Given the description of an element on the screen output the (x, y) to click on. 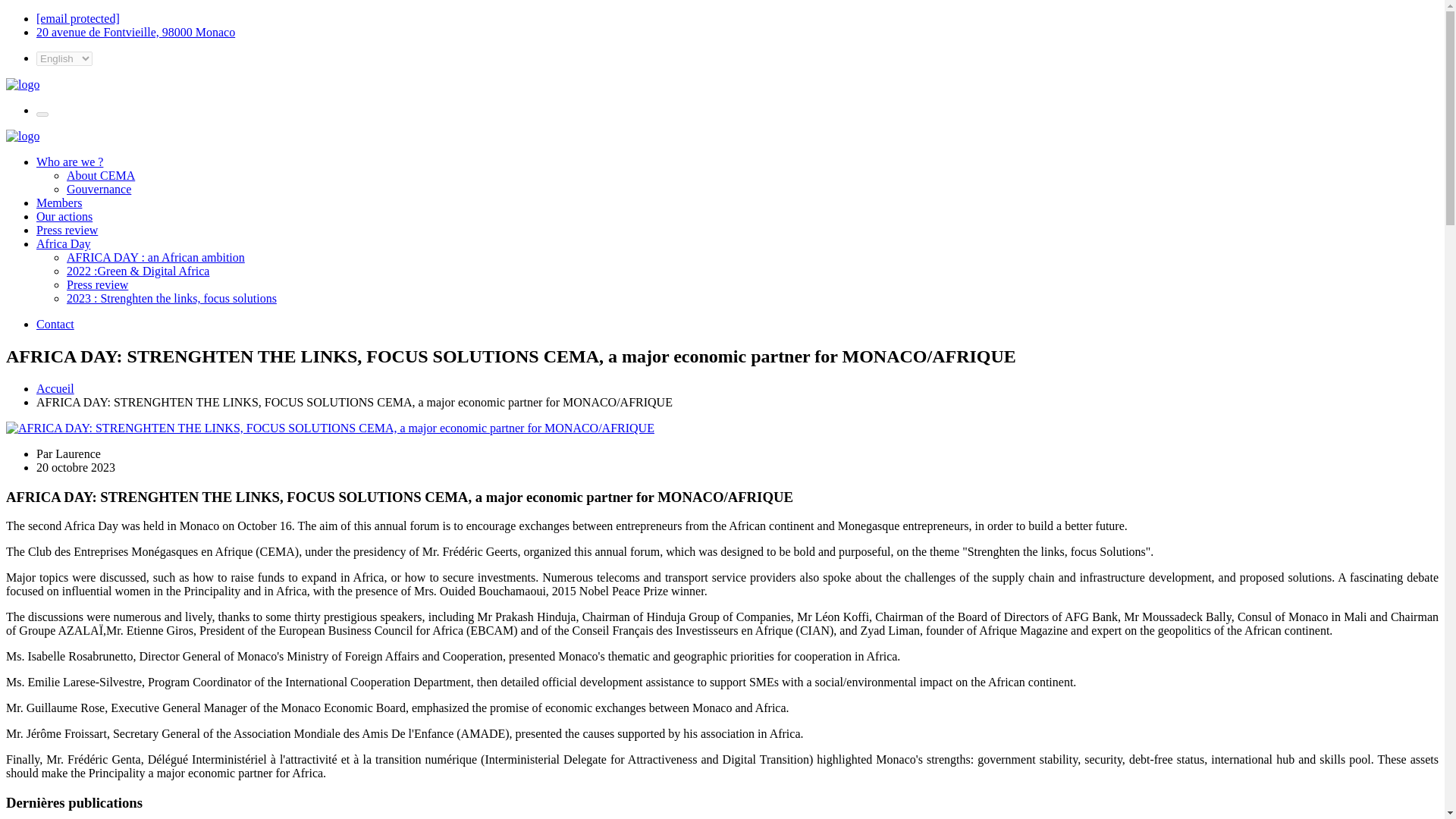
Press review (97, 284)
AFRICA DAY : an African ambition (155, 256)
Press review (66, 229)
Contact (55, 323)
Gouvernance (98, 188)
Who are we ? (69, 161)
Our actions (64, 215)
20 avenue de Fontvieille, 98000 Monaco (135, 31)
Accueil (55, 388)
About CEMA (100, 174)
2023 : Strenghten the links, focus solutions (171, 297)
Members (58, 202)
Africa Day (63, 243)
